Given the description of an element on the screen output the (x, y) to click on. 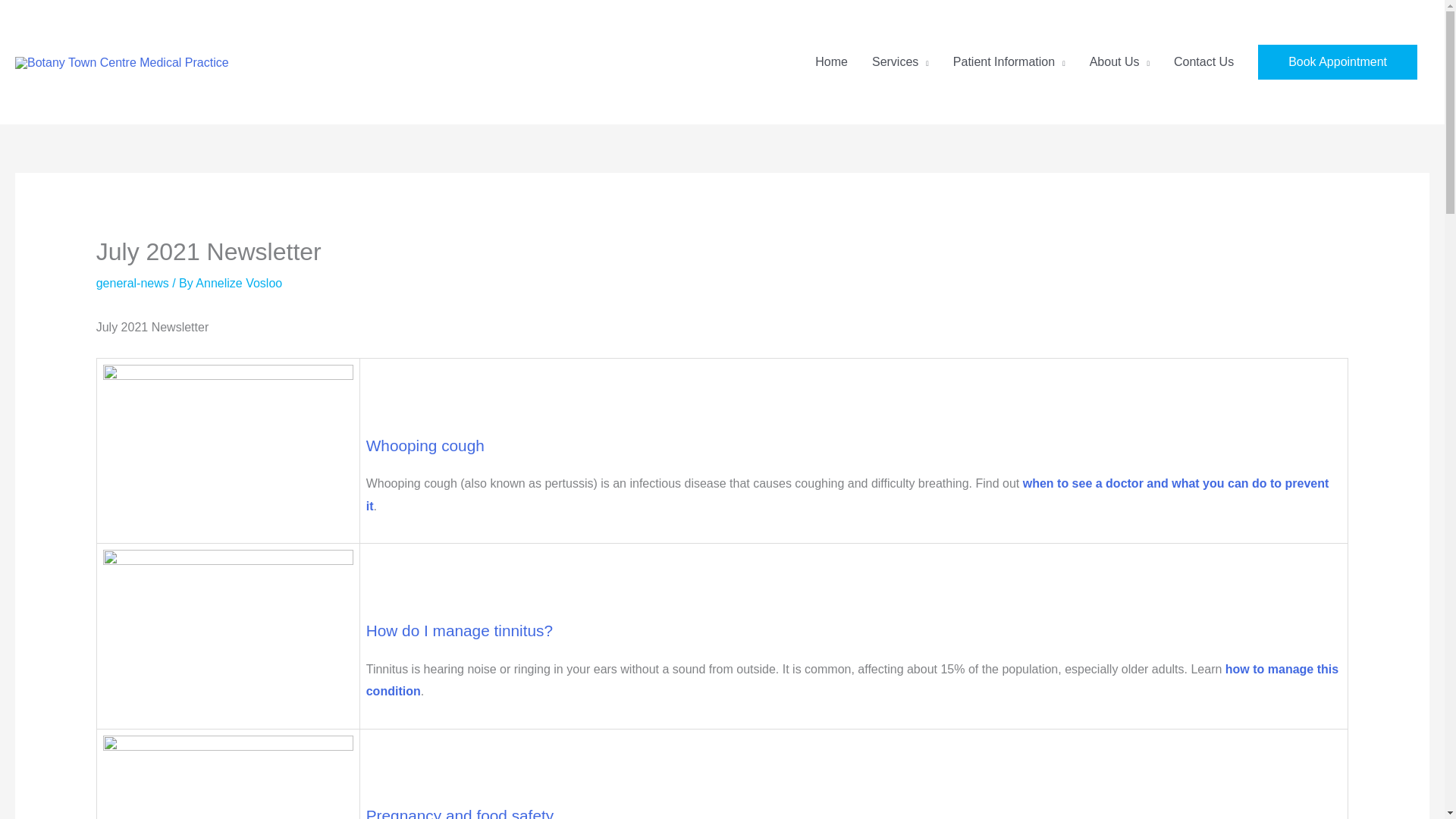
Services (900, 61)
How do I manage tinnitus? (459, 630)
how to manage this condition (852, 680)
About Us (1119, 61)
View all posts by Annelize Vosloo (238, 282)
when to see a doctor and what you can do to prevent it (847, 494)
Whooping cough (425, 445)
Home (831, 61)
Annelize Vosloo (238, 282)
Contact Us (1203, 61)
